Given the description of an element on the screen output the (x, y) to click on. 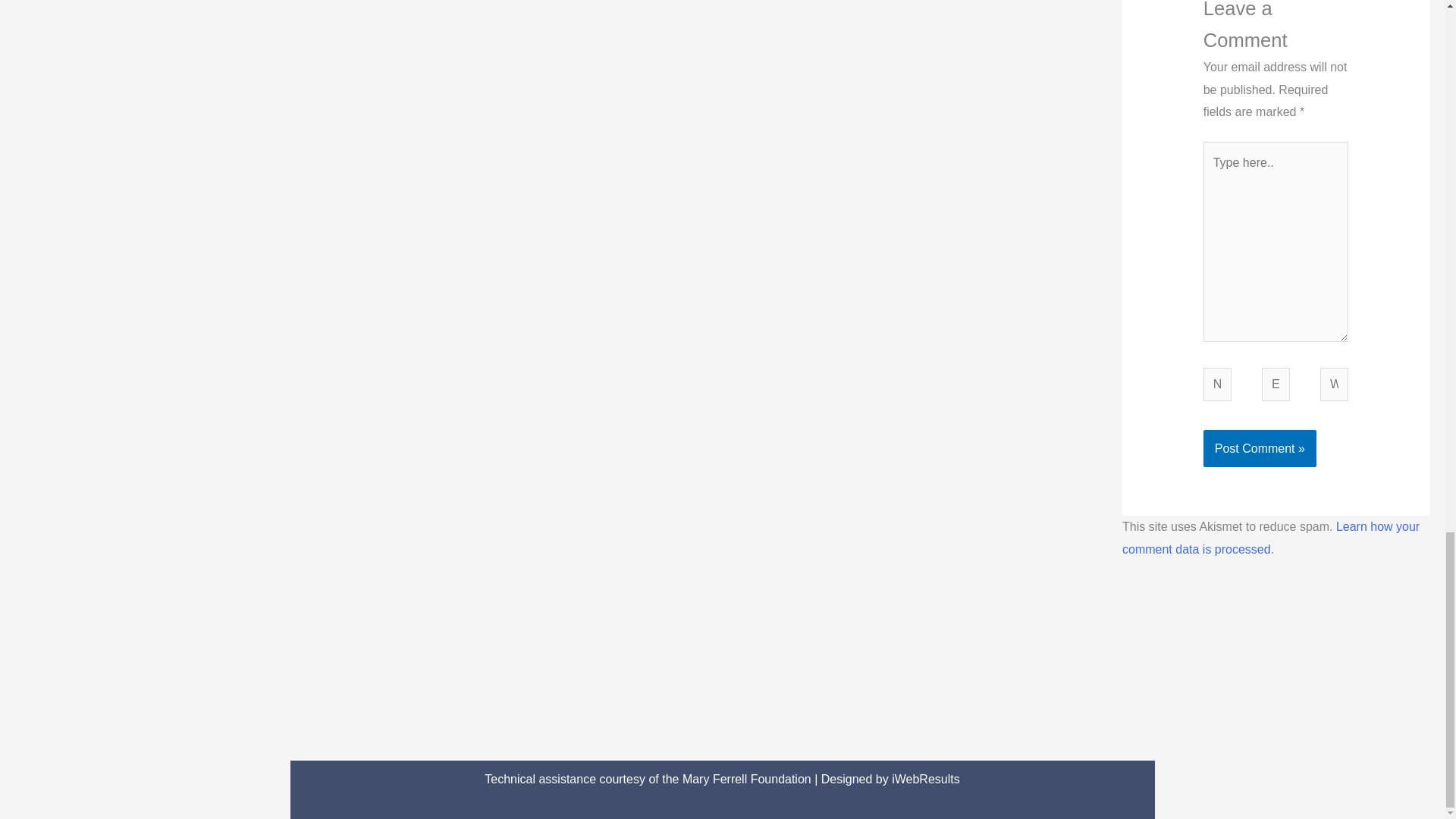
Mary Ferrell Foundation (746, 779)
iWebResults (925, 779)
Learn how your comment data is processed (1270, 538)
